Given the description of an element on the screen output the (x, y) to click on. 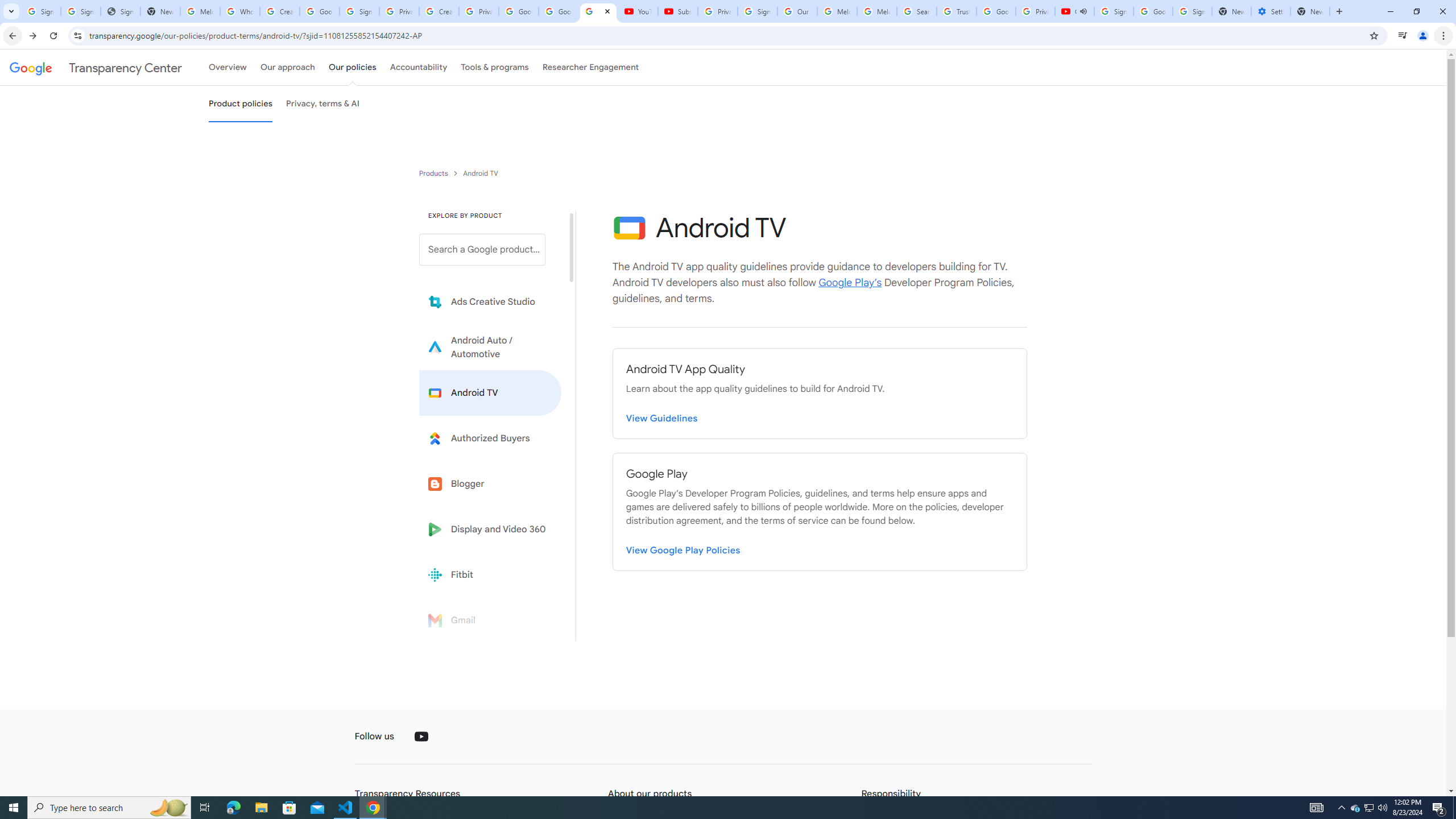
Learn more about Ads Creative Studio (490, 302)
Display and Video 360 (490, 529)
Learn more about Android Auto (490, 347)
